Given the description of an element on the screen output the (x, y) to click on. 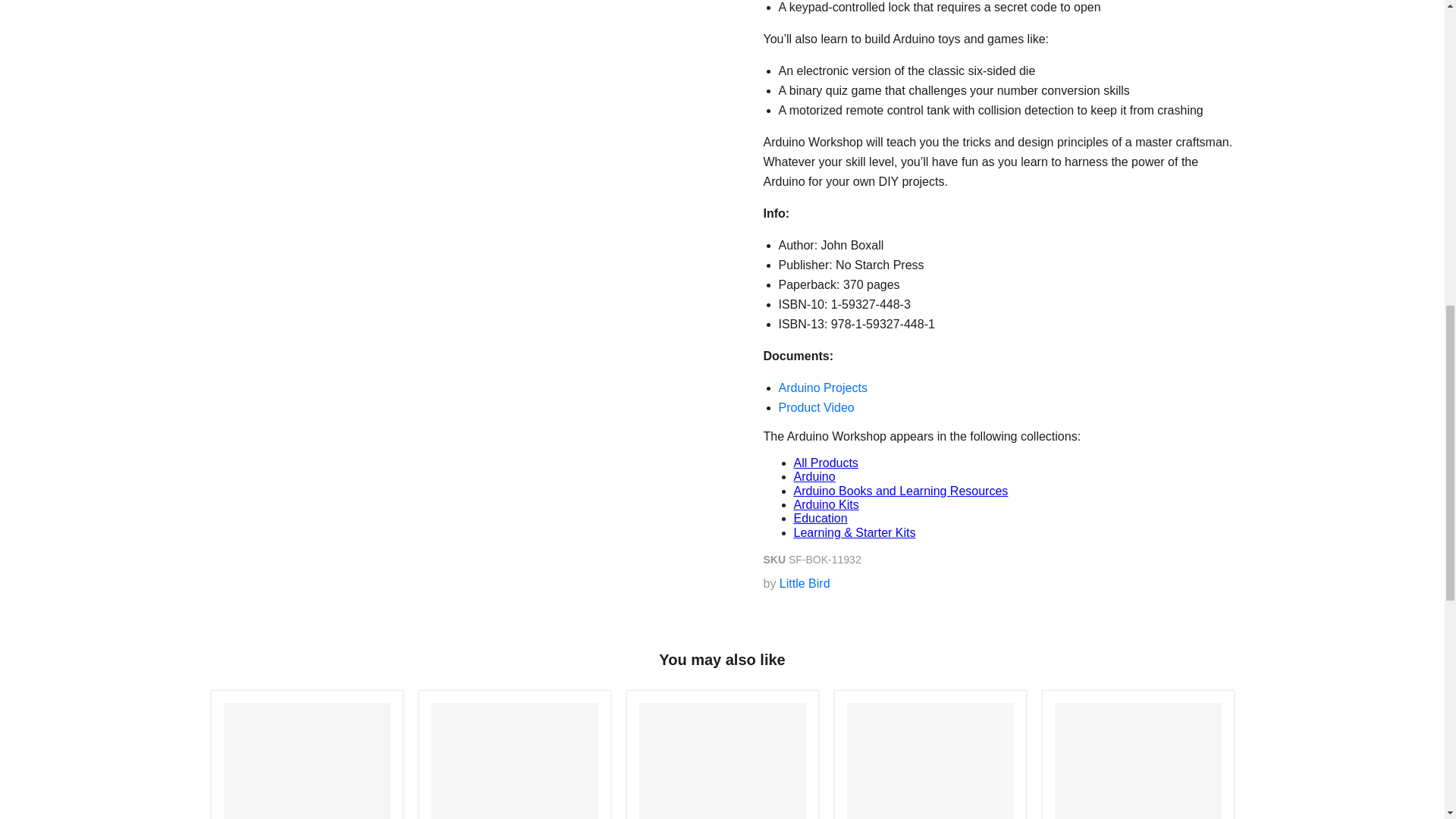
Little Bird (803, 583)
Buy All Products in Australia (825, 462)
Buy Arduino Kits in Australia (826, 504)
Buy Arduino Books and Learning Resources in Australia (900, 490)
Buy Arduino in Australia (813, 476)
Buy Education in Australia (820, 517)
